Given the description of an element on the screen output the (x, y) to click on. 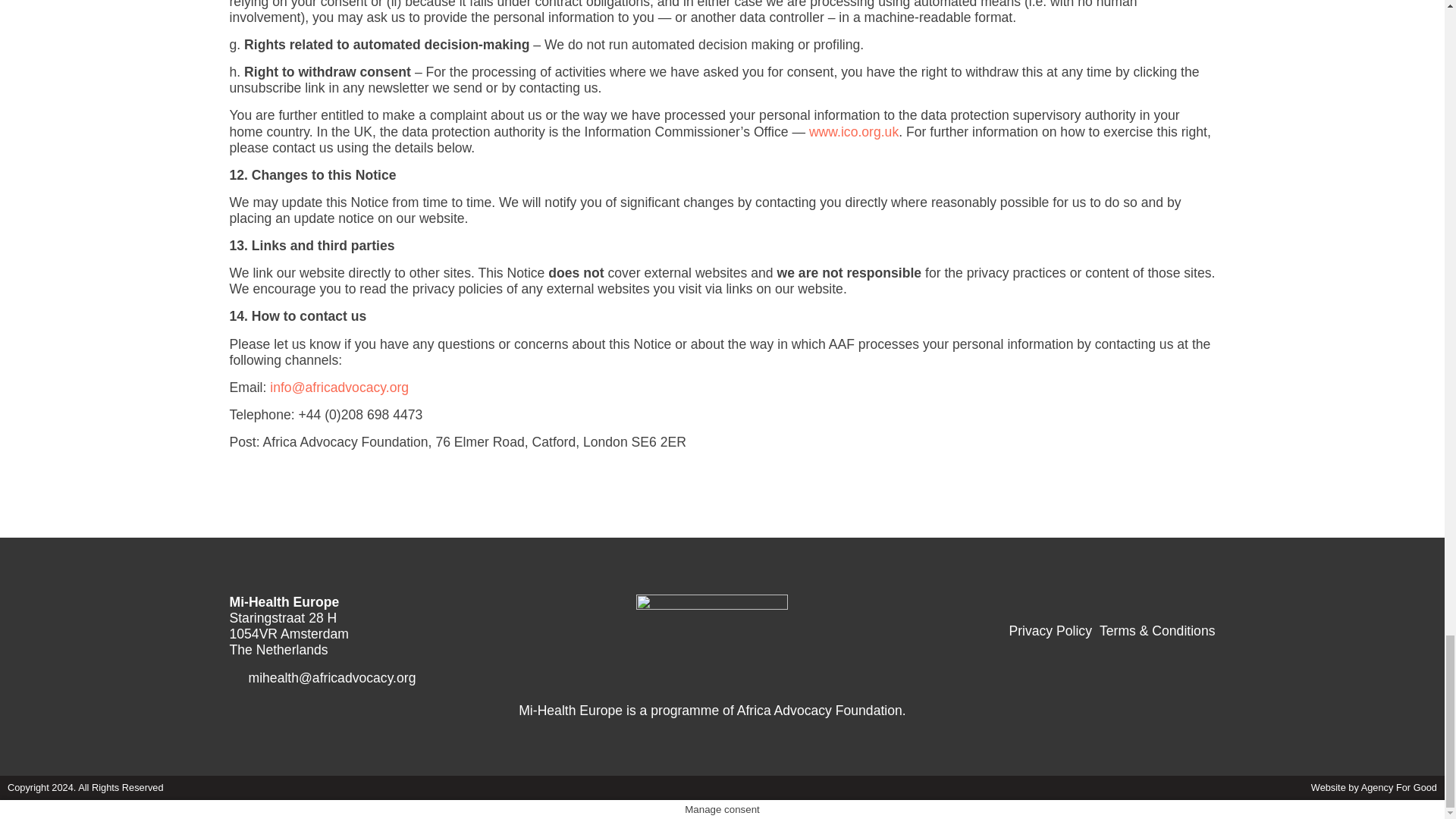
www.ico.org.uk (853, 131)
